Given the description of an element on the screen output the (x, y) to click on. 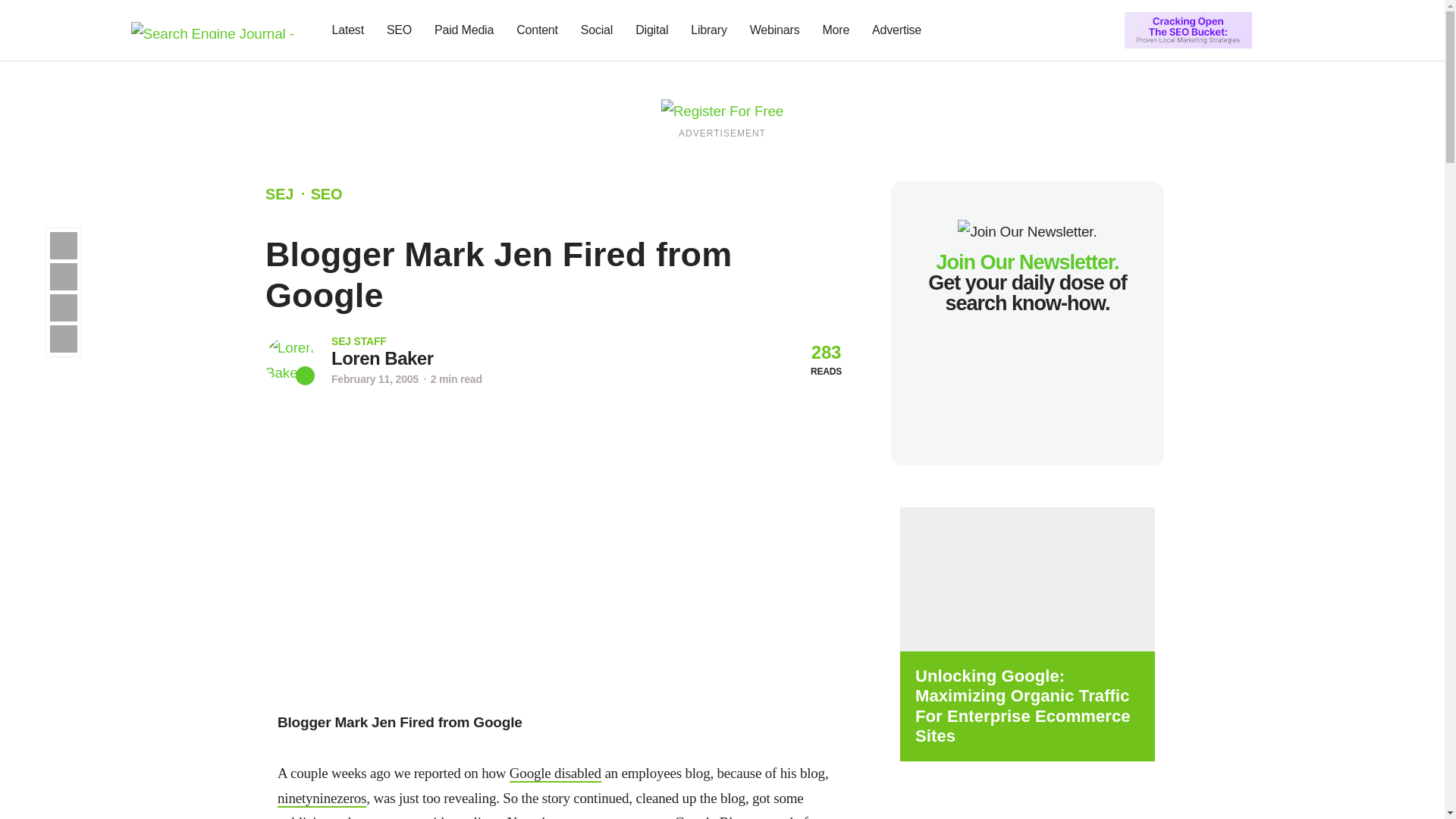
Latest (347, 30)
Go to Author Page (289, 359)
Subscribe to our Newsletter (1277, 30)
Go to Author Page (382, 358)
Register For Free (722, 109)
Register For Free (1187, 28)
Paid Media (464, 30)
